Given the description of an element on the screen output the (x, y) to click on. 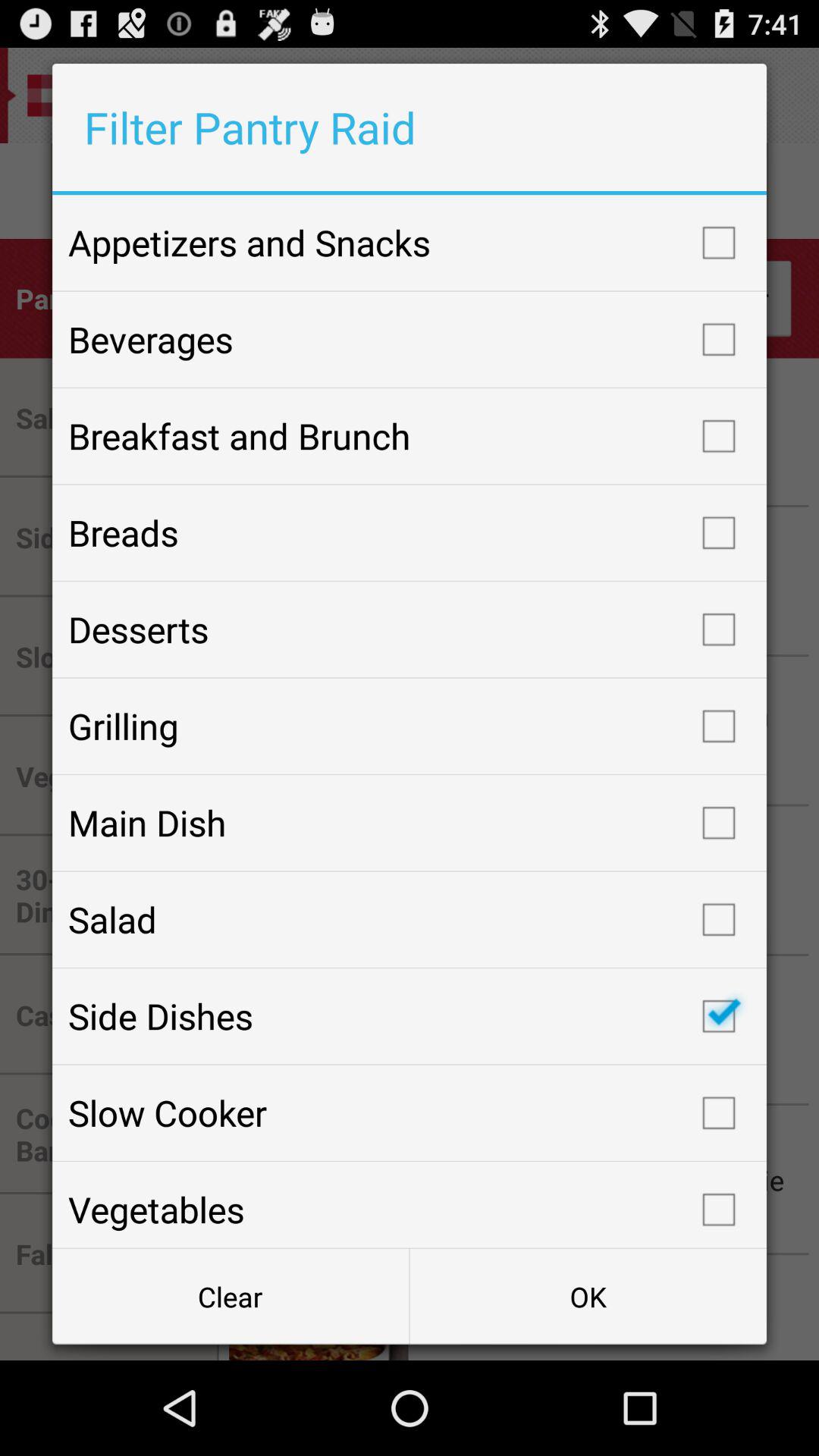
turn off icon above breakfast and brunch checkbox (409, 339)
